Given the description of an element on the screen output the (x, y) to click on. 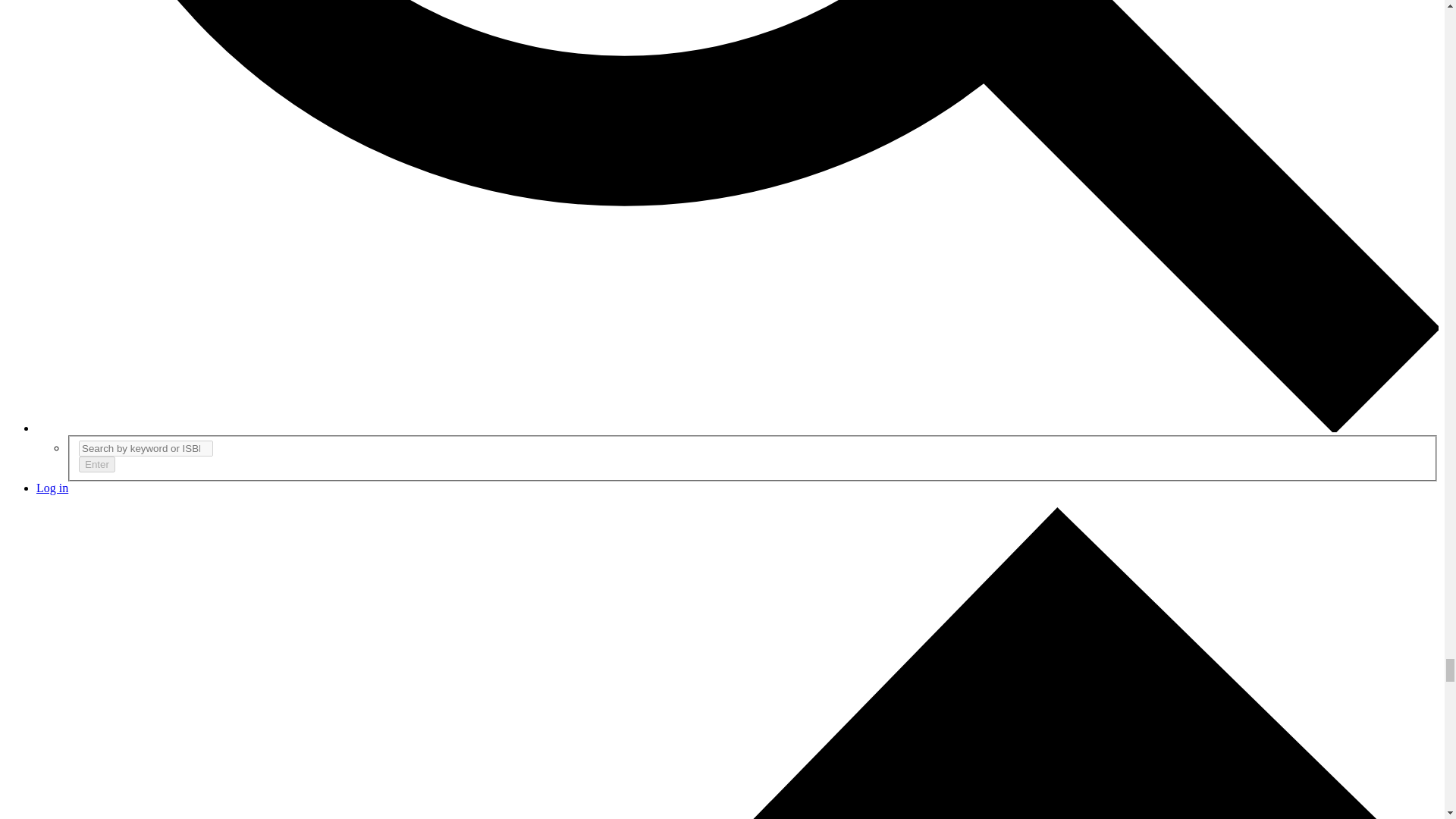
Enter (96, 464)
